Given the description of an element on the screen output the (x, y) to click on. 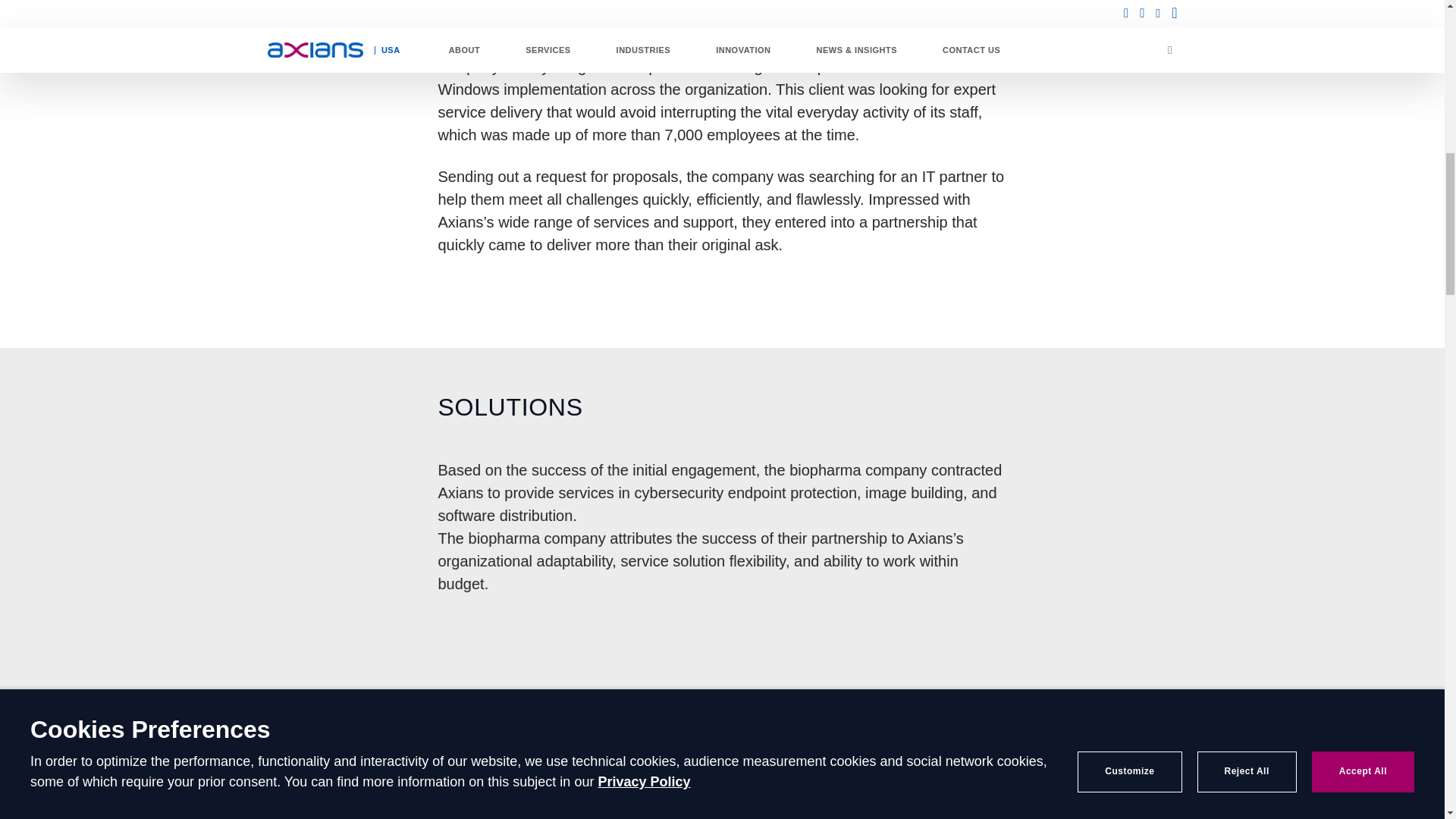
experienced project managers (857, 726)
